Given the description of an element on the screen output the (x, y) to click on. 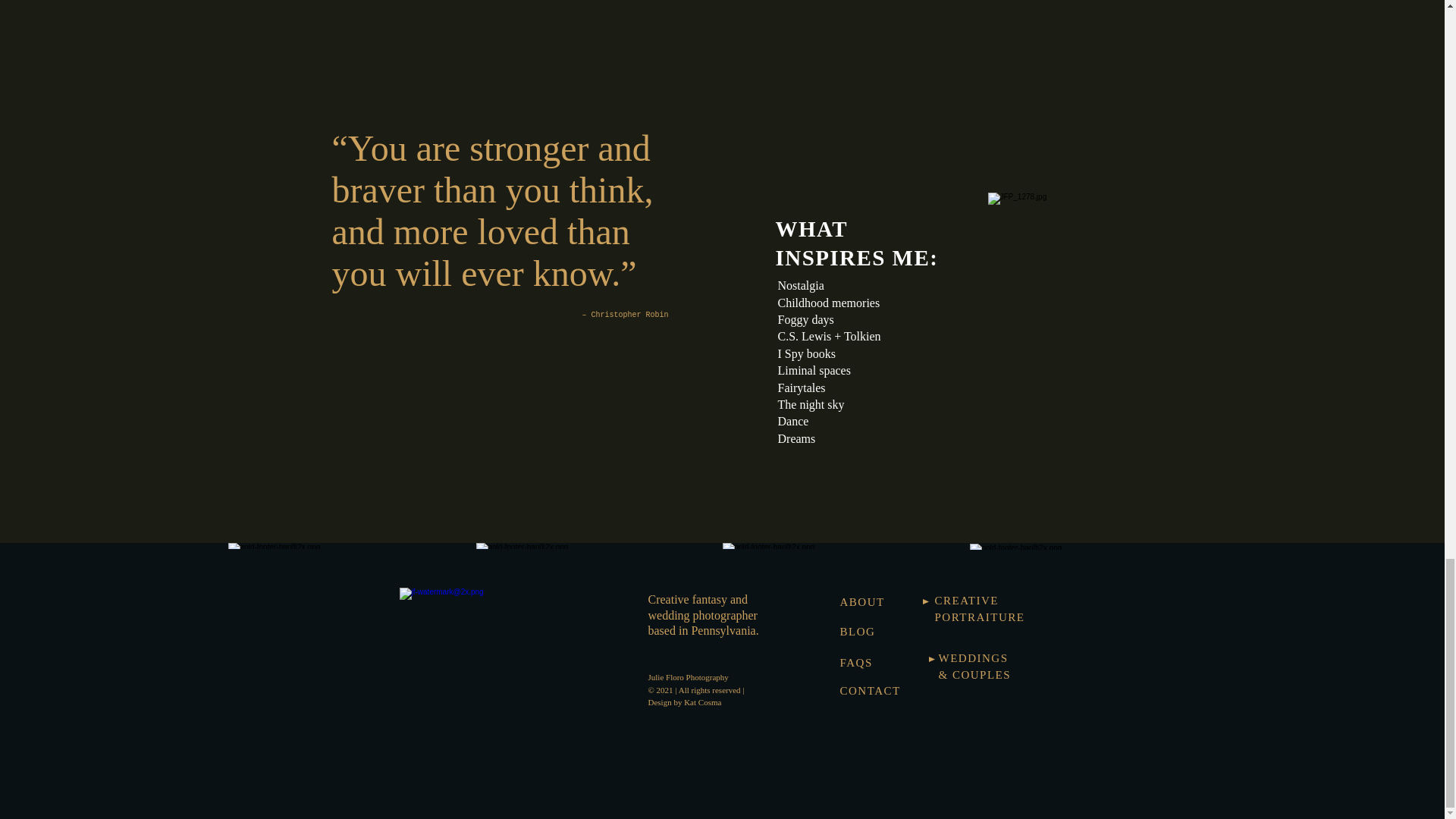
Design by Kat Cosma (683, 701)
ABOUT (862, 601)
FAQS (856, 662)
CONTACT (870, 689)
BLOG (858, 631)
CREATIVE PORTRAITURE (979, 608)
